Given the description of an element on the screen output the (x, y) to click on. 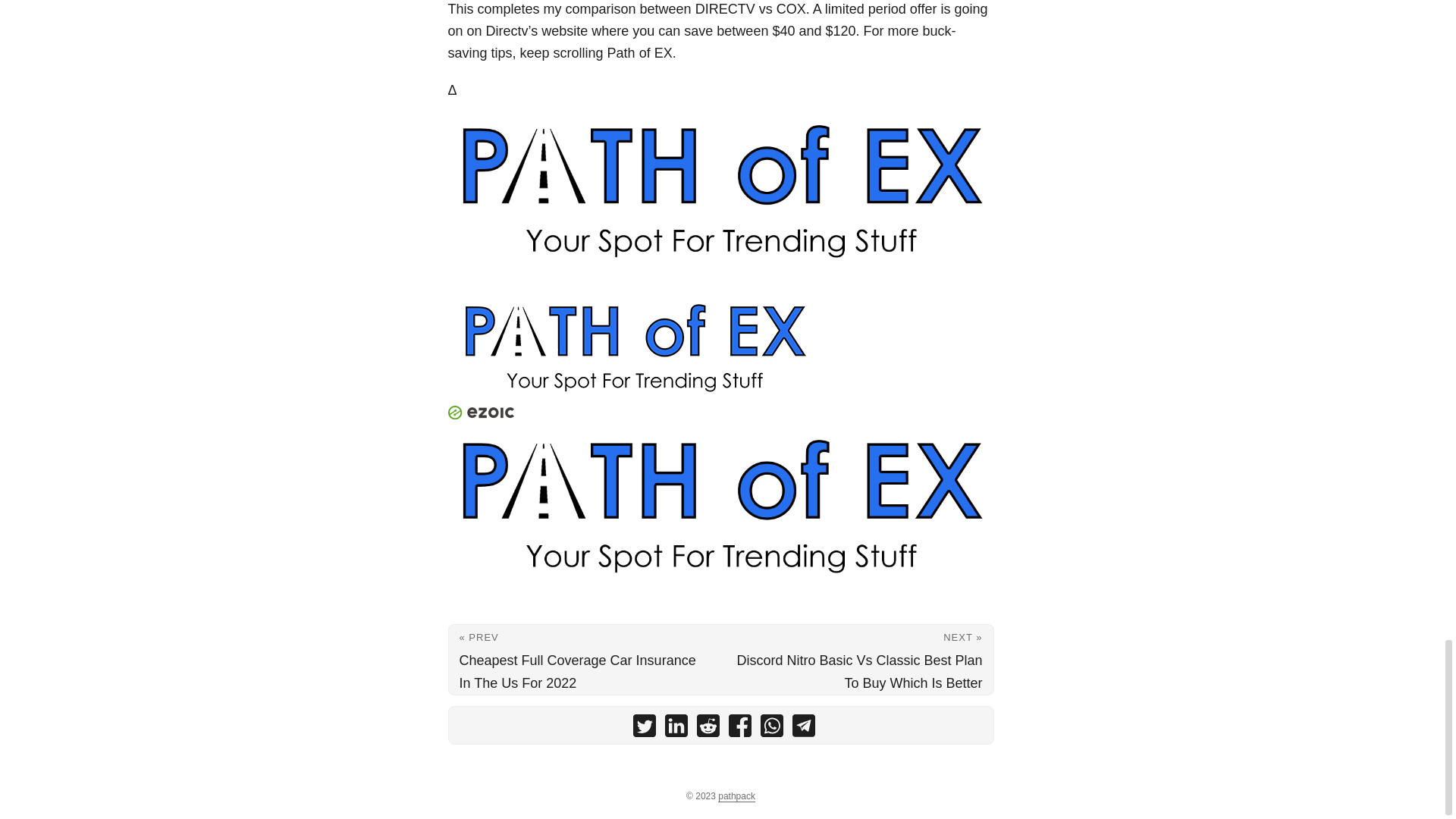
pathpack (736, 796)
